Given the description of an element on the screen output the (x, y) to click on. 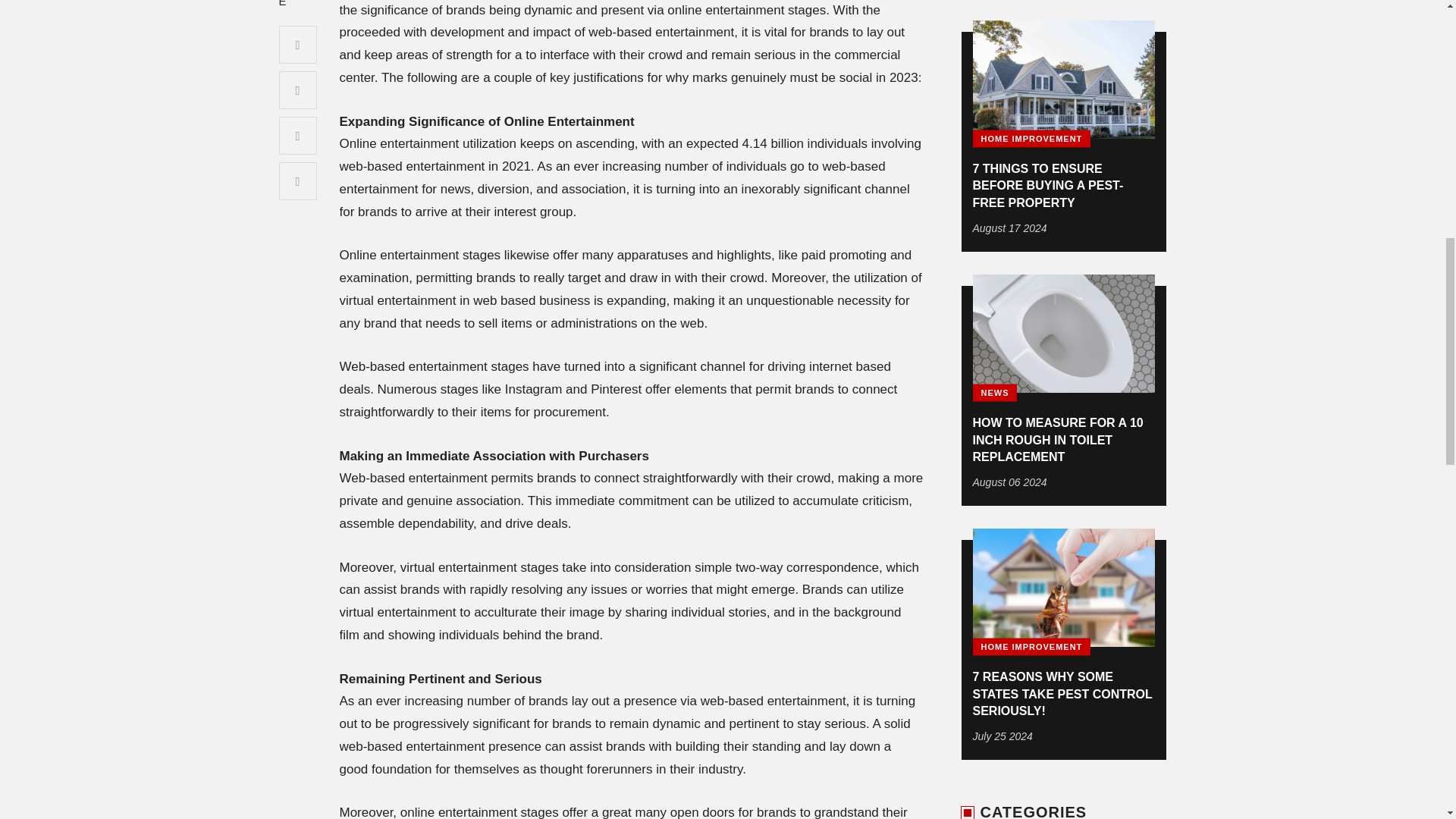
Share on Facebook (298, 44)
Share on Twitter (298, 89)
Share on Linkedin (298, 180)
Share on Pinterest (298, 135)
